Given the description of an element on the screen output the (x, y) to click on. 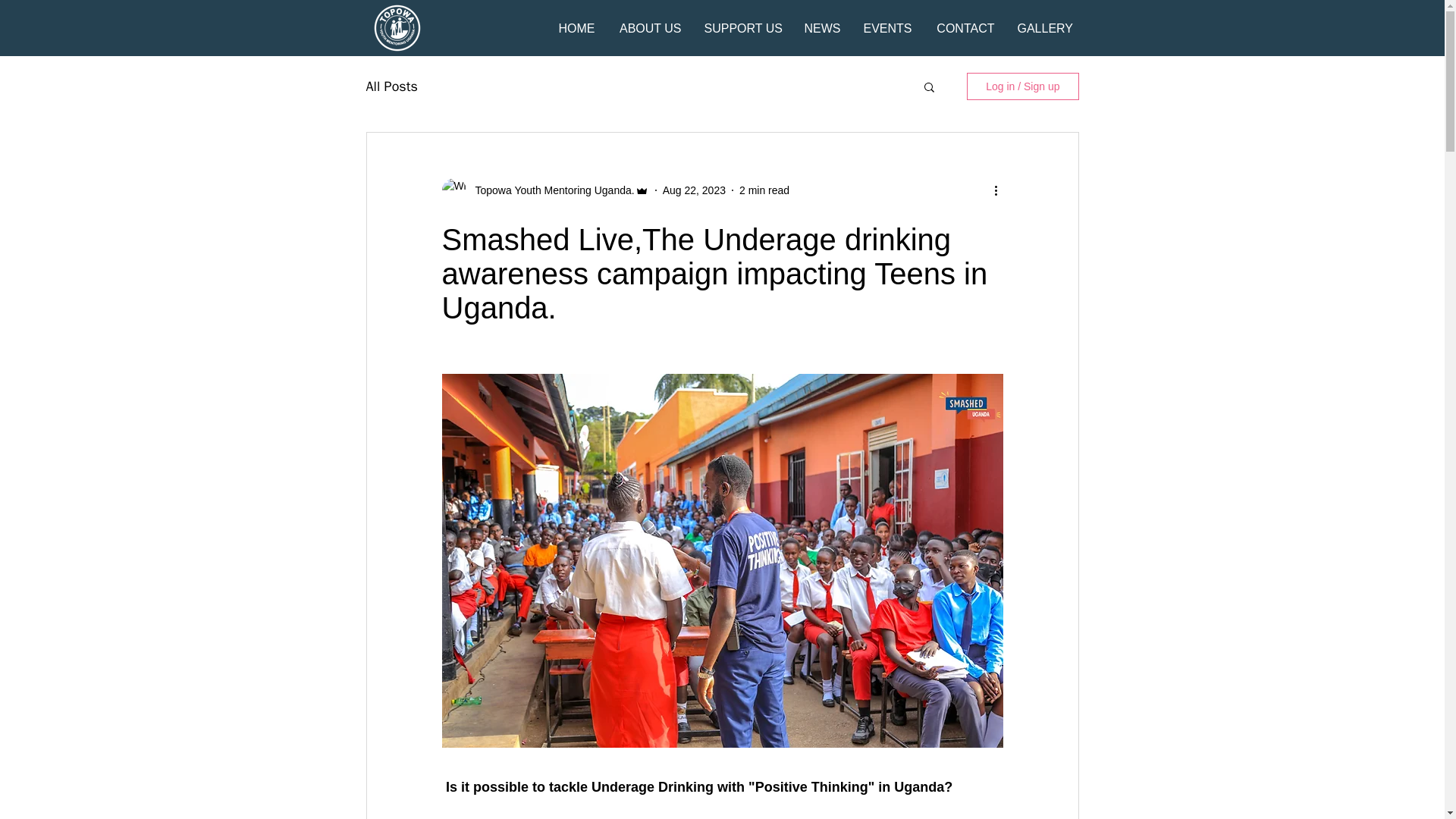
All Posts (390, 85)
EVENTS (887, 27)
HOME (575, 27)
Aug 22, 2023 (693, 189)
NEWS (820, 27)
GALLERY (1043, 27)
CONTACT (963, 27)
SUPPORT US (741, 27)
ABOUT US (650, 27)
2 min read (764, 189)
Topowa Youth Mentoring Uganda. (549, 189)
